Given the description of an element on the screen output the (x, y) to click on. 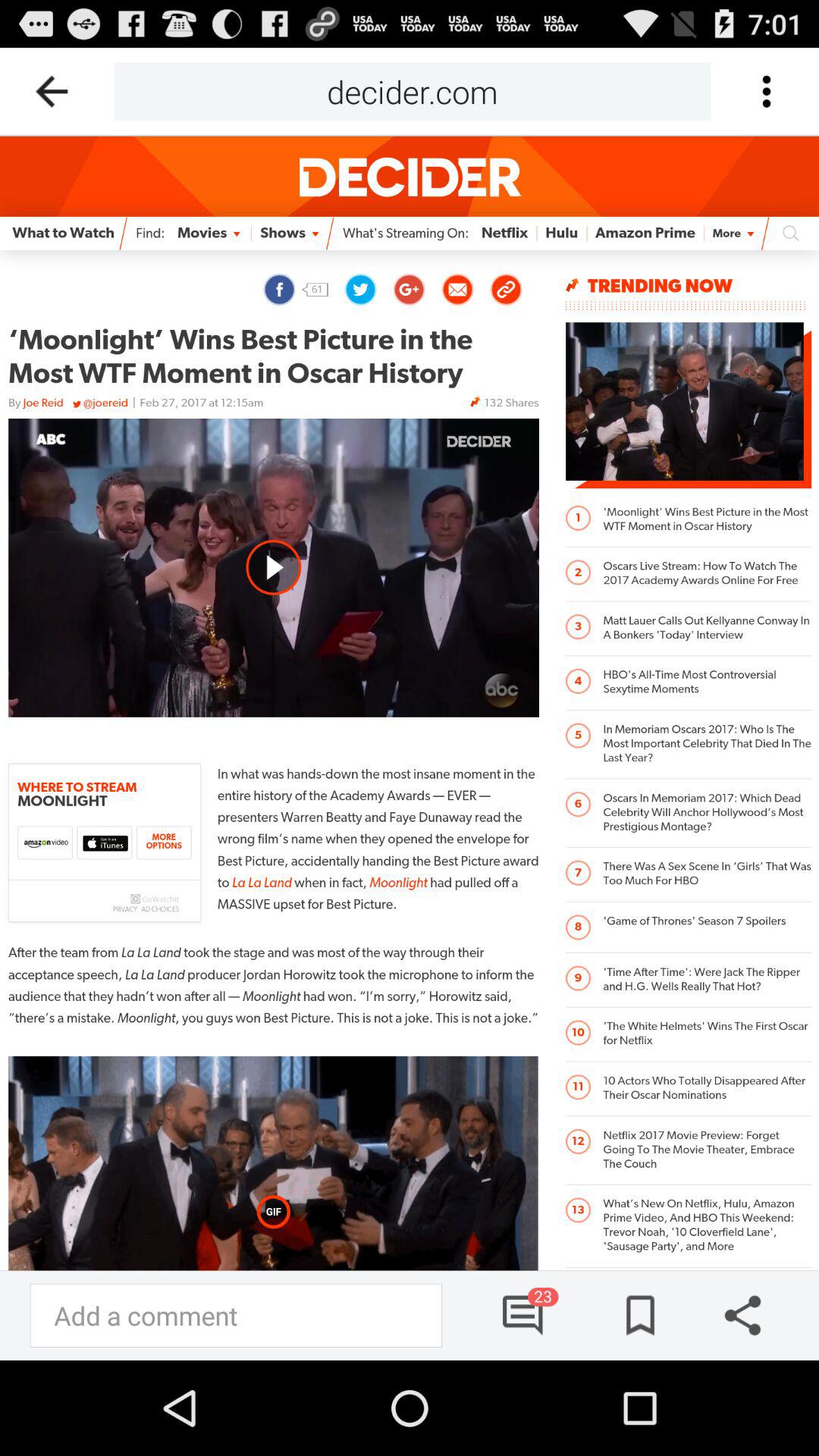
option (765, 91)
